Given the description of an element on the screen output the (x, y) to click on. 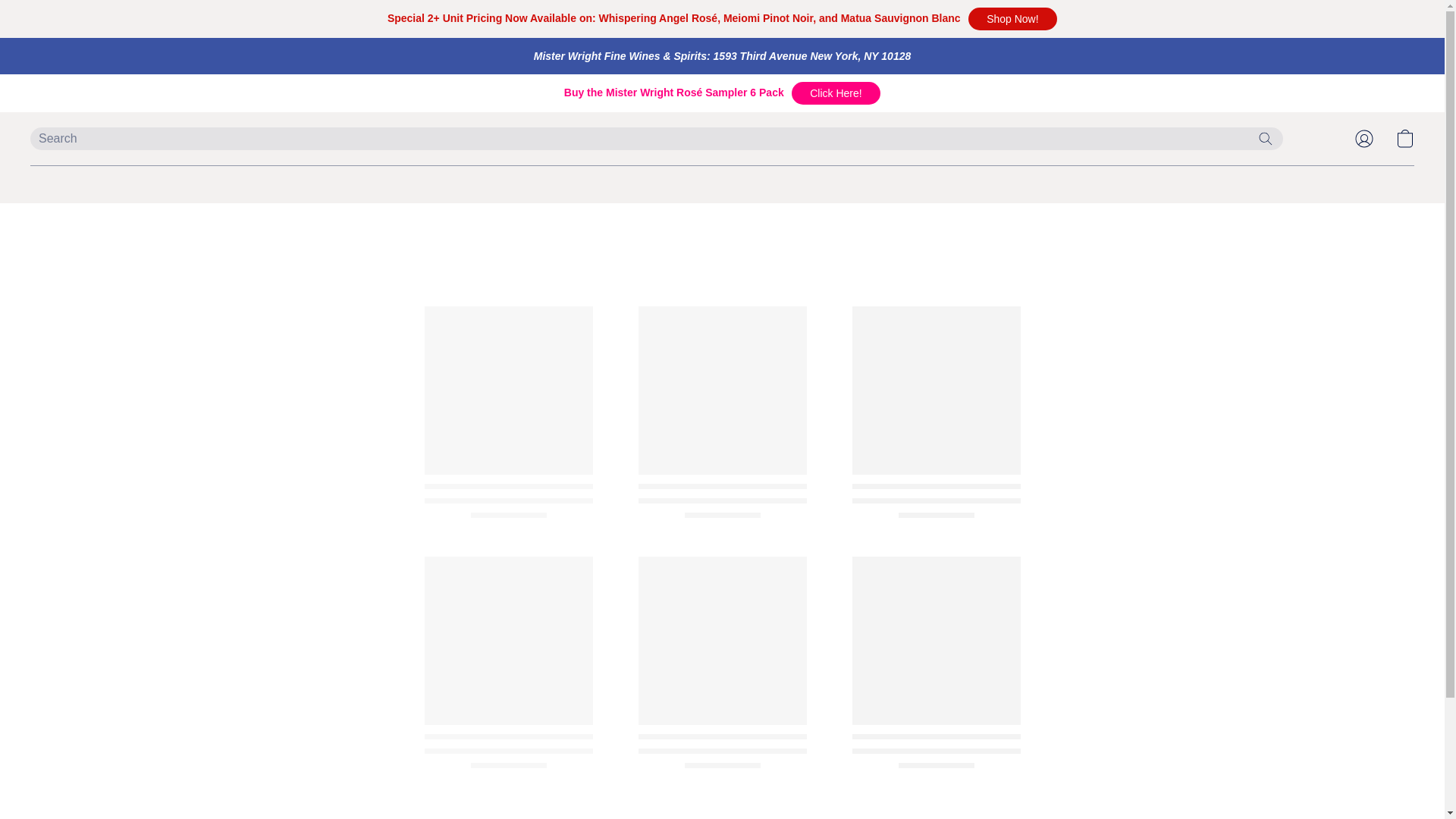
Shop Now! (1012, 18)
Click Here! (836, 92)
Go to your shopping cart (1404, 138)
